Given the description of an element on the screen output the (x, y) to click on. 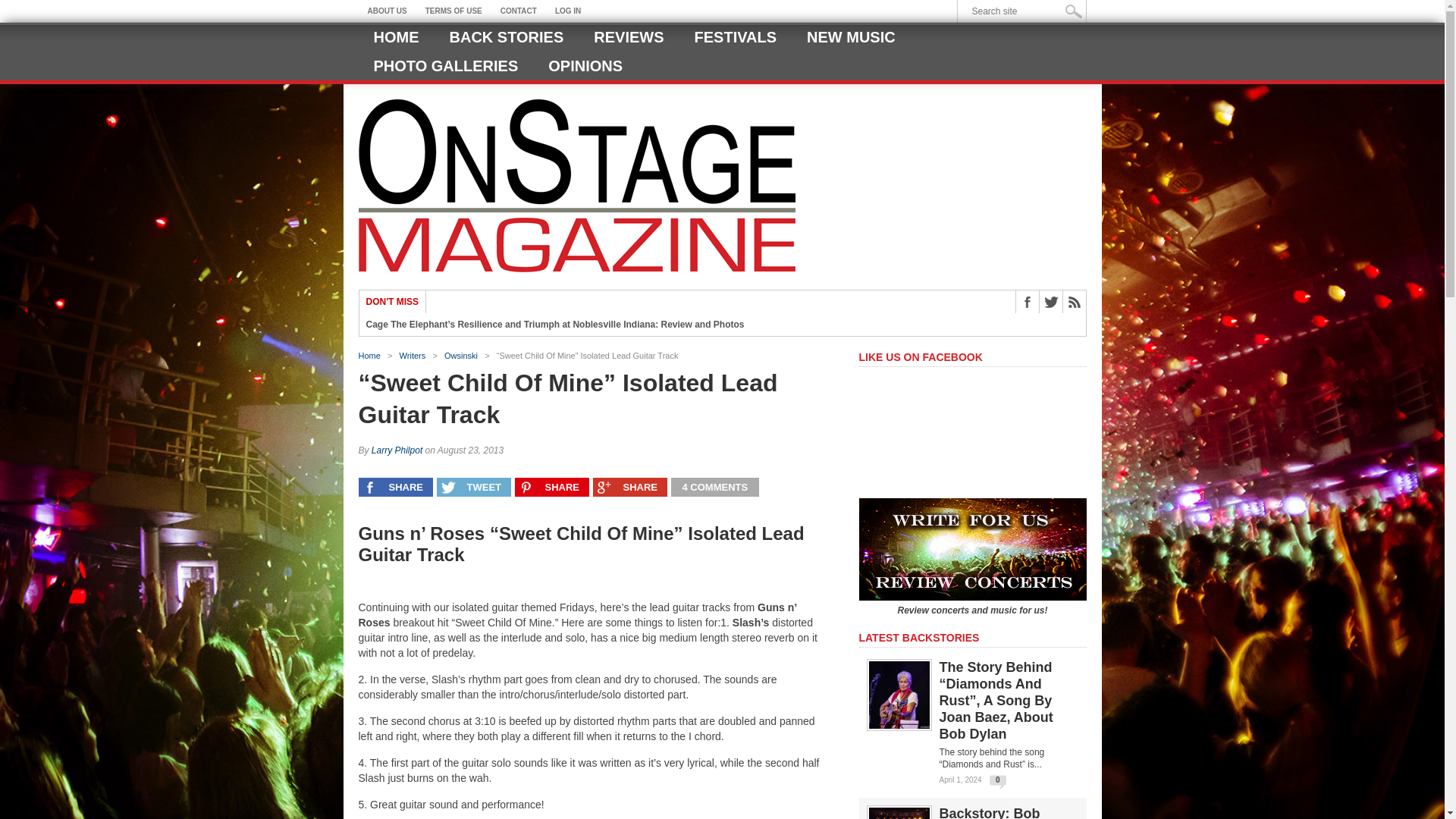
HOME (395, 36)
REVIEWS (628, 36)
Home (369, 355)
FESTIVALS (735, 36)
PHOTO GALLERIES (445, 65)
Larry Philpot (396, 450)
Posts by Larry Philpot (396, 450)
ABOUT US (386, 11)
CONTACT (519, 11)
BACK STORIES (505, 36)
